Given the description of an element on the screen output the (x, y) to click on. 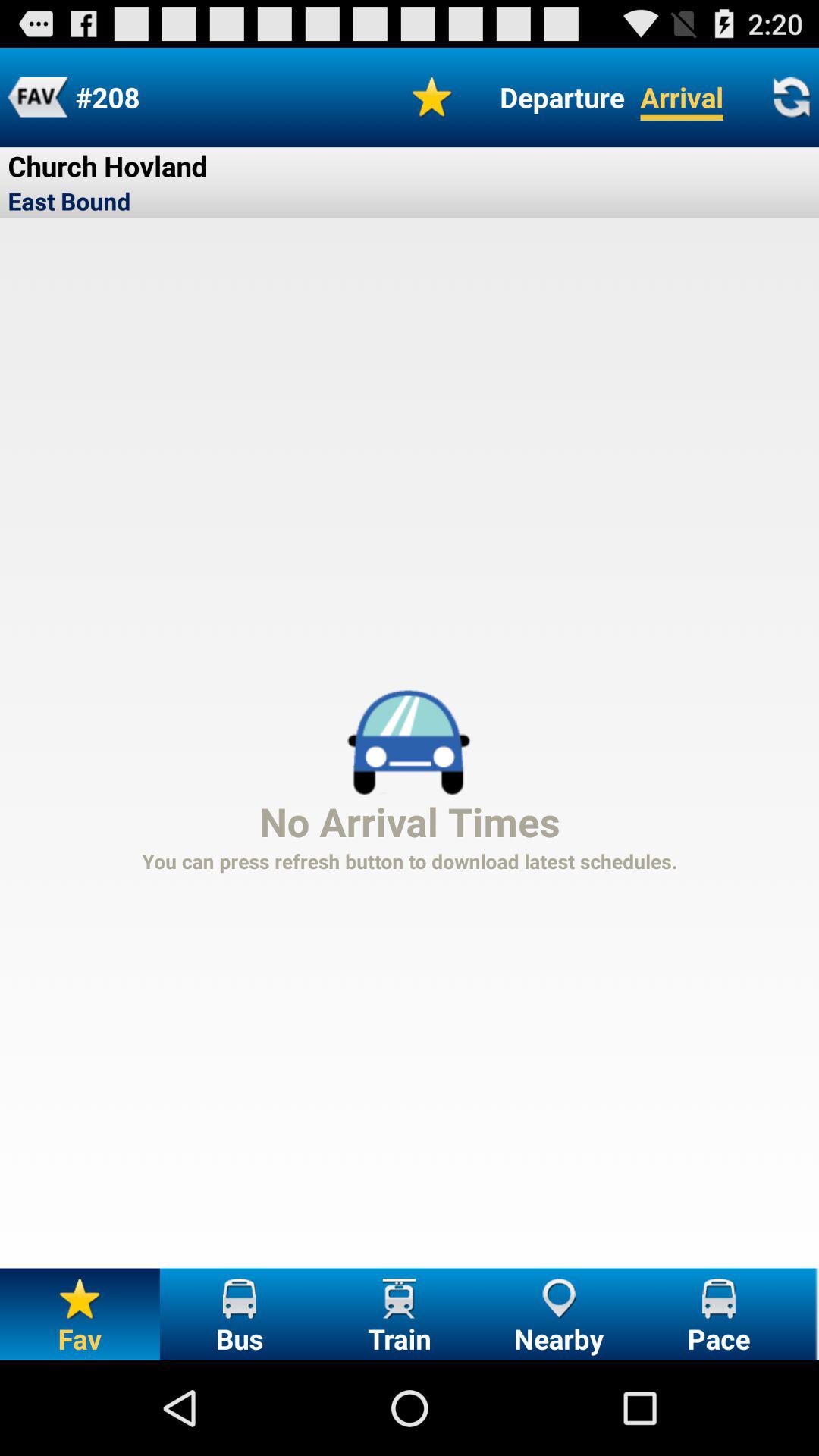
go back to favorites (37, 97)
